Given the description of an element on the screen output the (x, y) to click on. 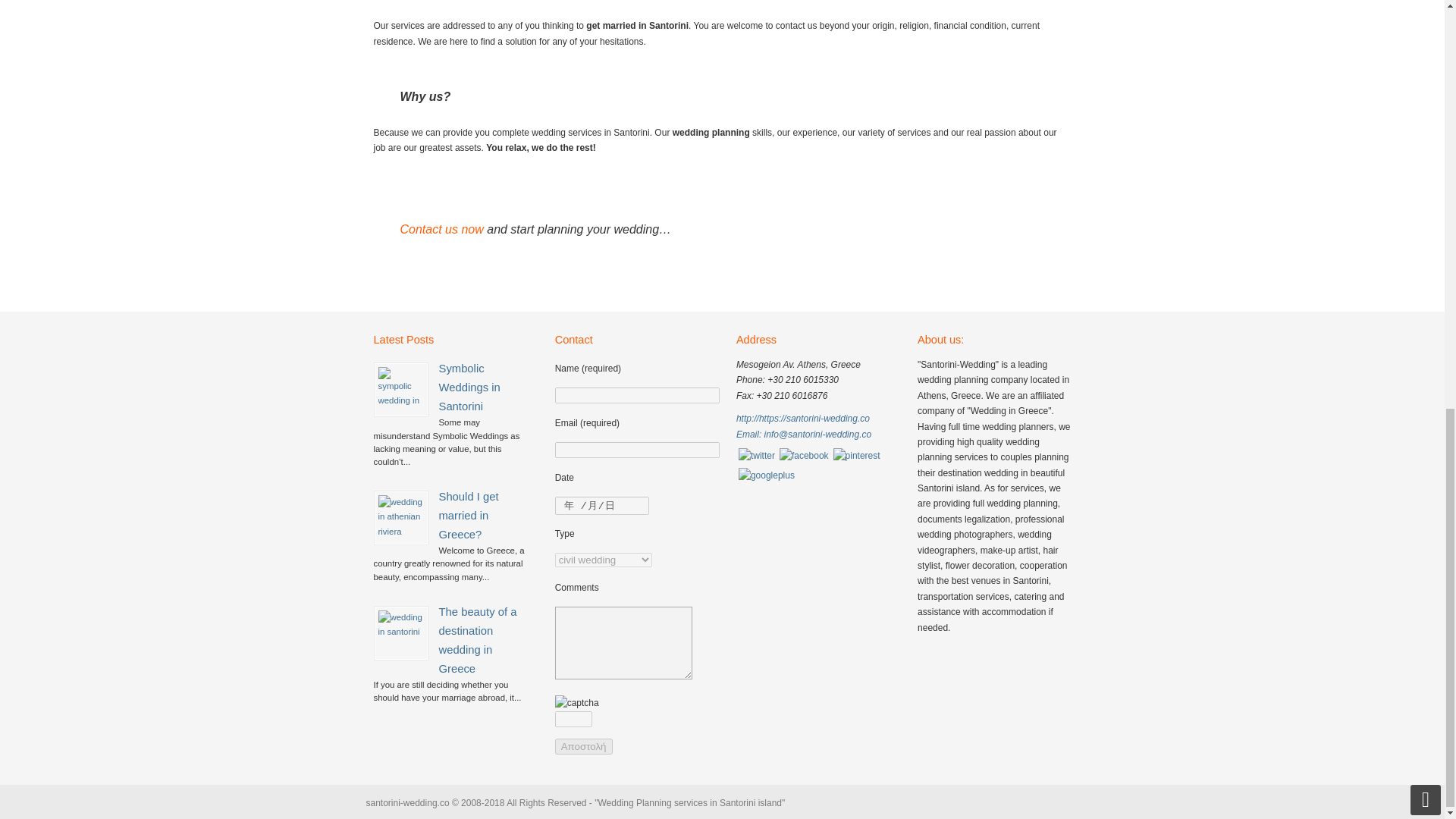
Symbolic Weddings in Santorini (468, 387)
Contact Santorini wedding planning team (441, 228)
Symbolic Weddings in Santorini (400, 389)
